Given the description of an element on the screen output the (x, y) to click on. 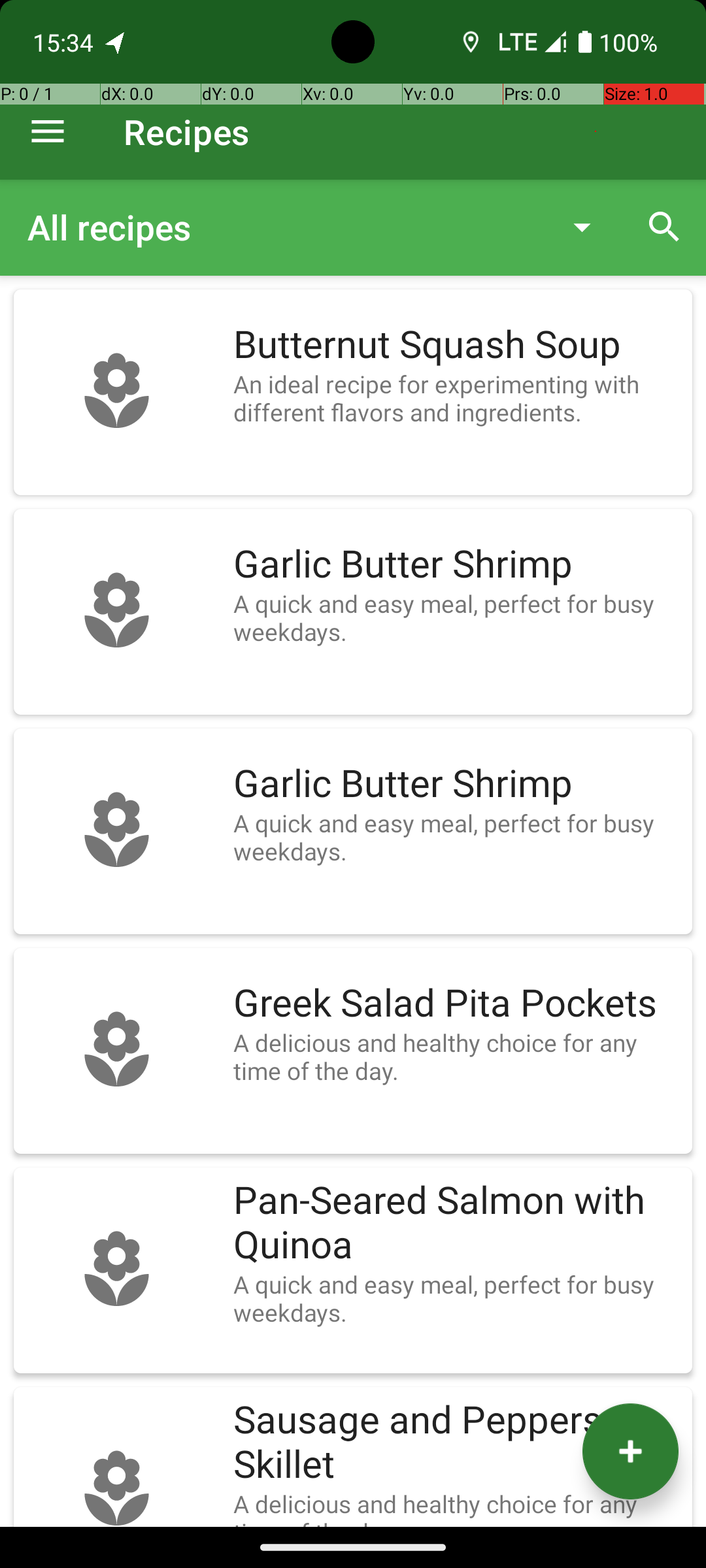
Pan-Seared Salmon with Quinoa Element type: android.widget.TextView (455, 1222)
Sausage and Peppers Skillet Element type: android.widget.TextView (455, 1442)
OpenTracks notification:  Element type: android.widget.ImageView (115, 41)
